Given the description of an element on the screen output the (x, y) to click on. 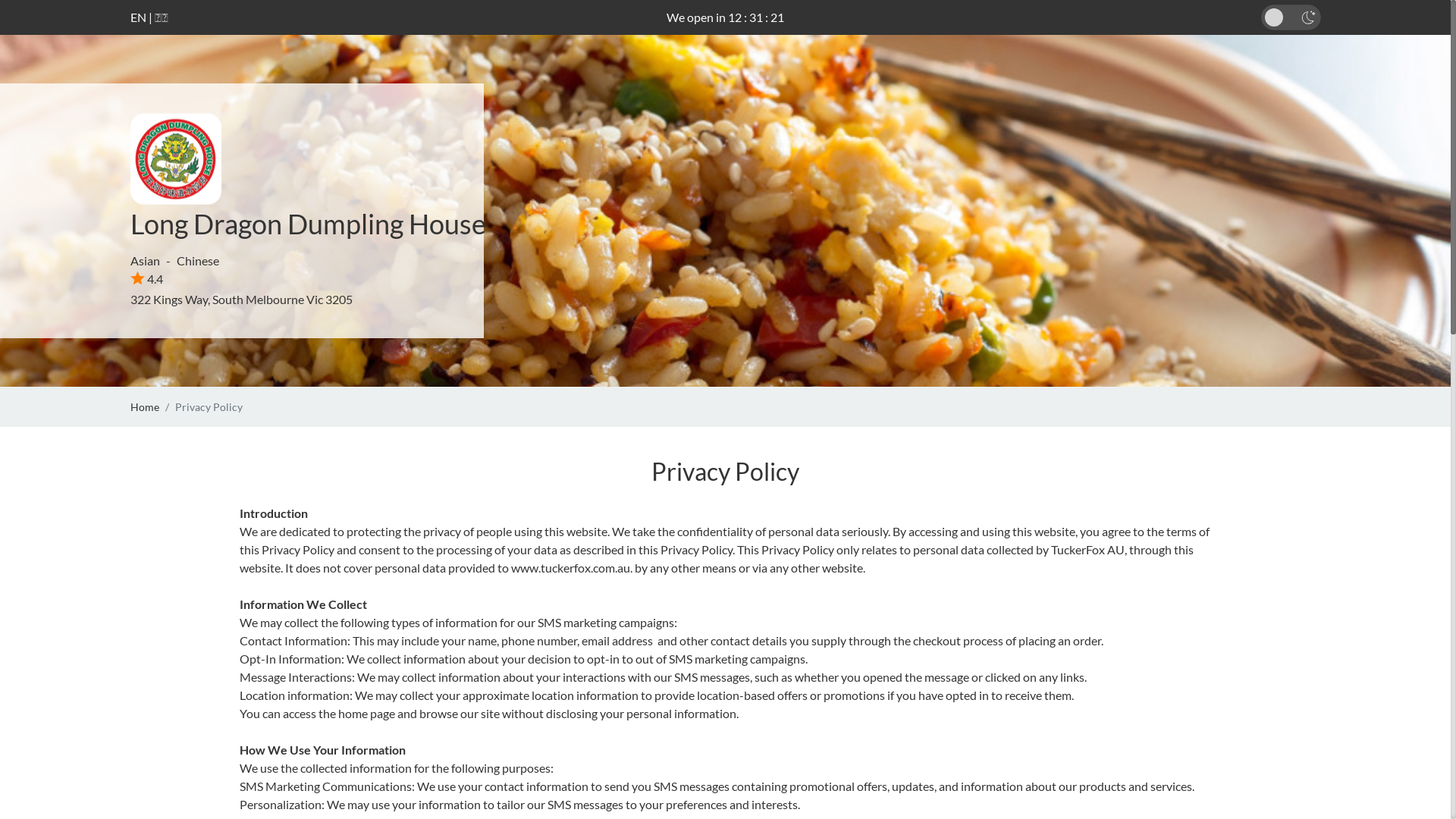
Long Dragon Dumpling House Element type: text (308, 223)
EN Element type: text (138, 16)
Home Element type: text (144, 406)
4.4 Element type: text (146, 278)
